Given the description of an element on the screen output the (x, y) to click on. 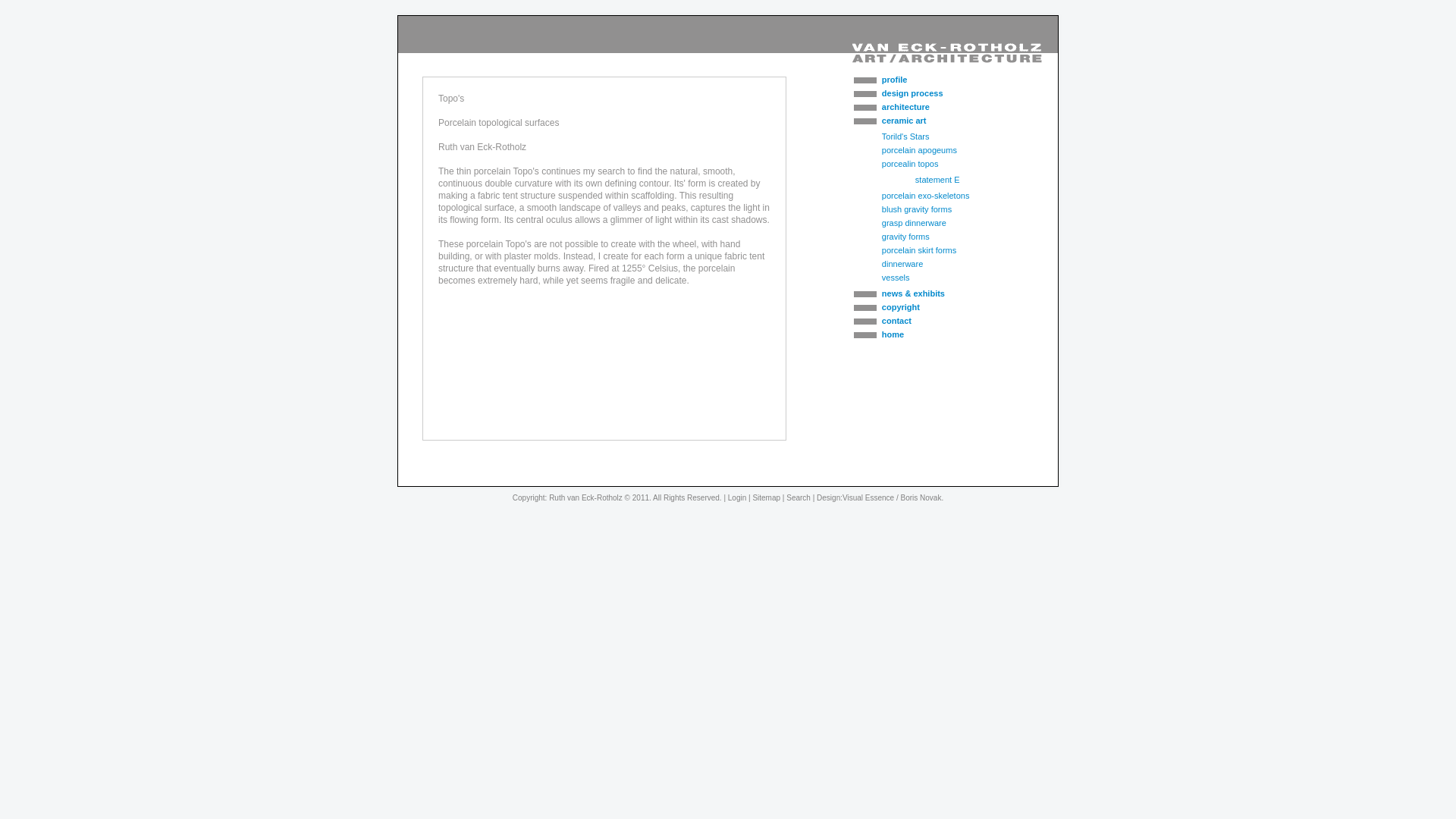
contact (932, 320)
copyright (932, 306)
dinnerware (902, 263)
vessels (896, 276)
Sitemap (766, 497)
ceramic art (932, 120)
Login (736, 497)
porcelain exo-skeletons (925, 194)
porcealin topos (910, 163)
architecture (932, 106)
porcelain apogeums (919, 149)
gravity forms (906, 235)
design process (932, 92)
Search (798, 497)
statement E (937, 179)
